Given the description of an element on the screen output the (x, y) to click on. 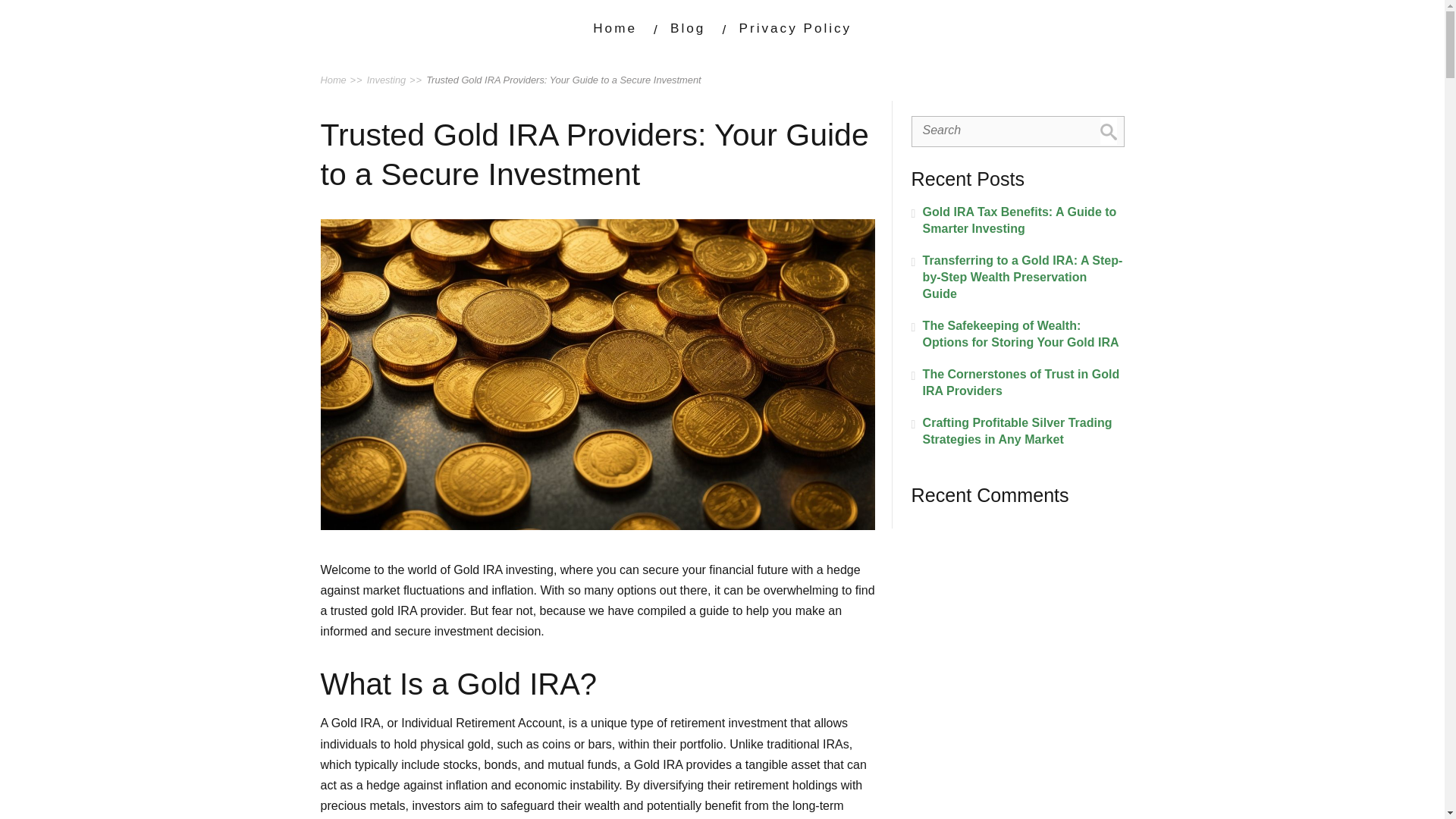
The Safekeeping of Wealth: Options for Storing Your Gold IRA (1017, 334)
Crafting Profitable Silver Trading Strategies in Any Market (1017, 430)
Privacy Policy (795, 27)
Gold IRA Tax Benefits: A Guide to Smarter Investing (1017, 220)
The Cornerstones of Trust in Gold IRA Providers (1017, 382)
Blog (687, 27)
Home (615, 27)
